Given the description of an element on the screen output the (x, y) to click on. 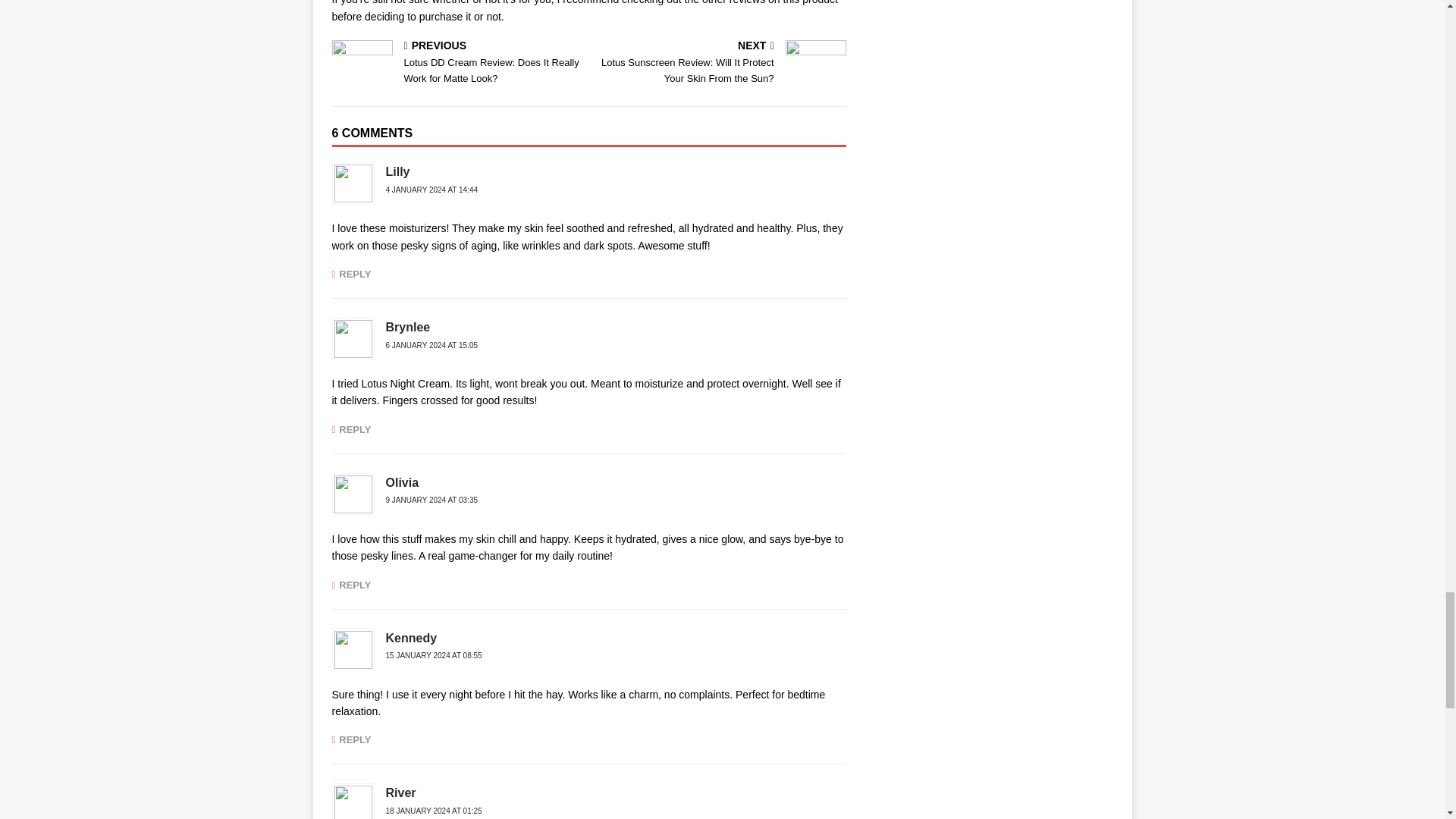
6 JANUARY 2024 AT 15:05 (431, 345)
REPLY (351, 429)
4 JANUARY 2024 AT 14:44 (431, 189)
REPLY (351, 274)
